Given the description of an element on the screen output the (x, y) to click on. 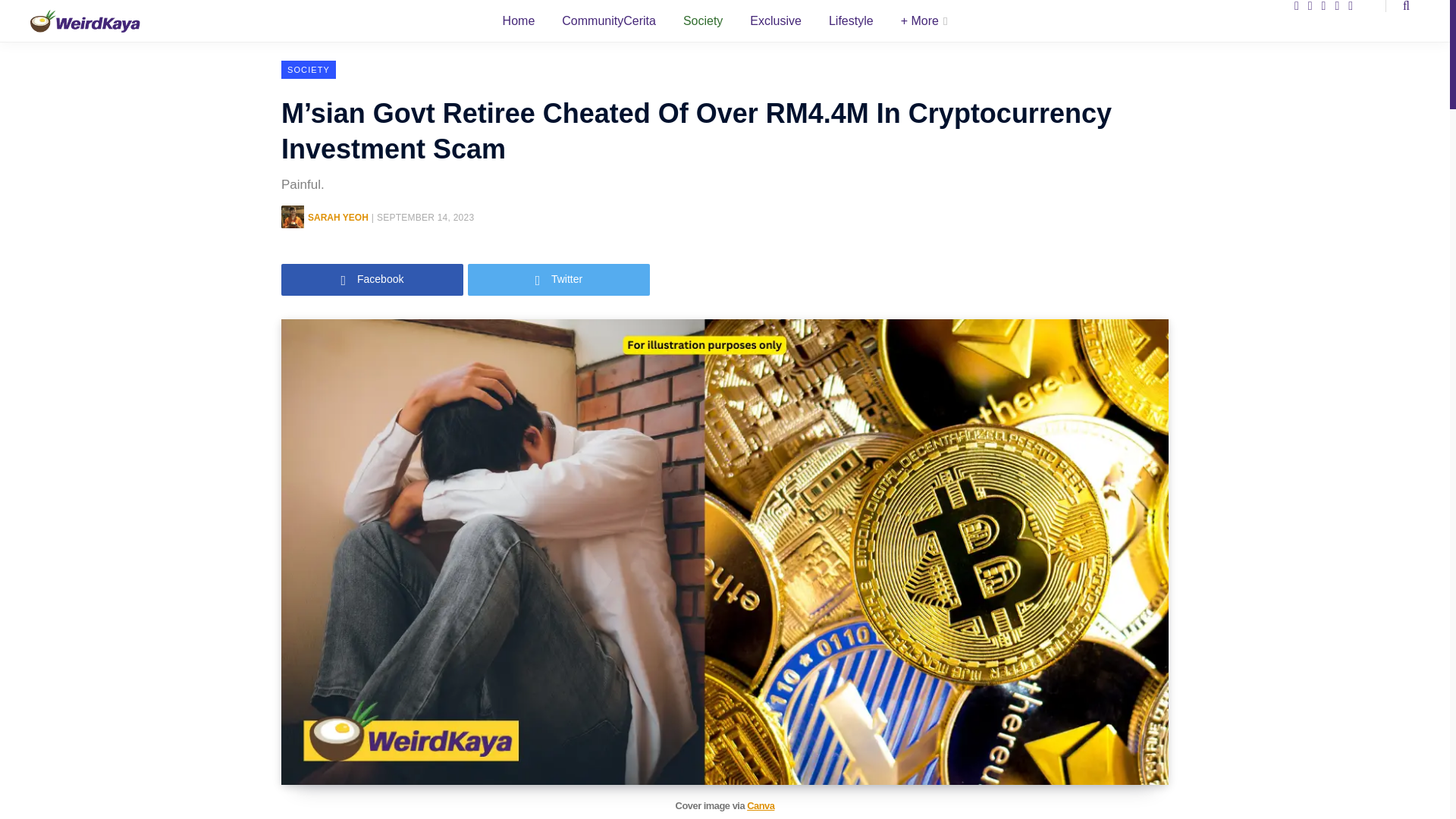
SARAH YEOH (337, 217)
SOCIETY (308, 69)
Home (518, 21)
Society (702, 20)
Categories (923, 20)
WeirdKaya (85, 20)
SEPTEMBER 14, 2023 (425, 217)
Canva (760, 805)
CommunityCerita (608, 20)
Lifestyle (850, 20)
